Given the description of an element on the screen output the (x, y) to click on. 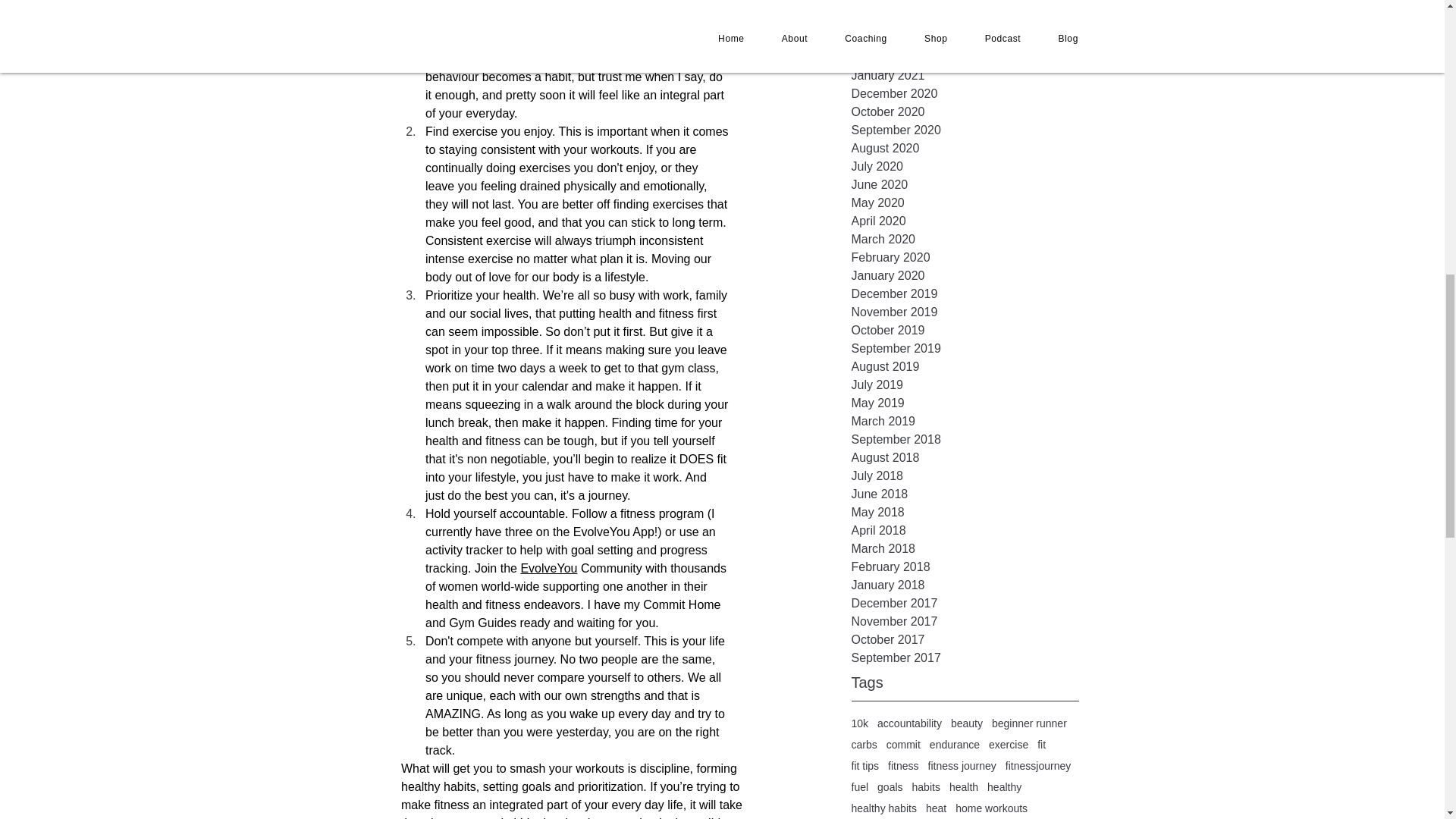
December 2021 (964, 6)
October 2020 (964, 112)
January 2020 (964, 275)
October 2021 (964, 39)
November 2021 (964, 21)
May 2020 (964, 203)
February 2020 (964, 257)
June 2020 (964, 185)
September 2021 (964, 57)
January 2021 (964, 75)
August 2020 (964, 148)
December 2019 (964, 294)
March 2020 (964, 239)
September 2020 (964, 130)
November 2019 (964, 312)
